Given the description of an element on the screen output the (x, y) to click on. 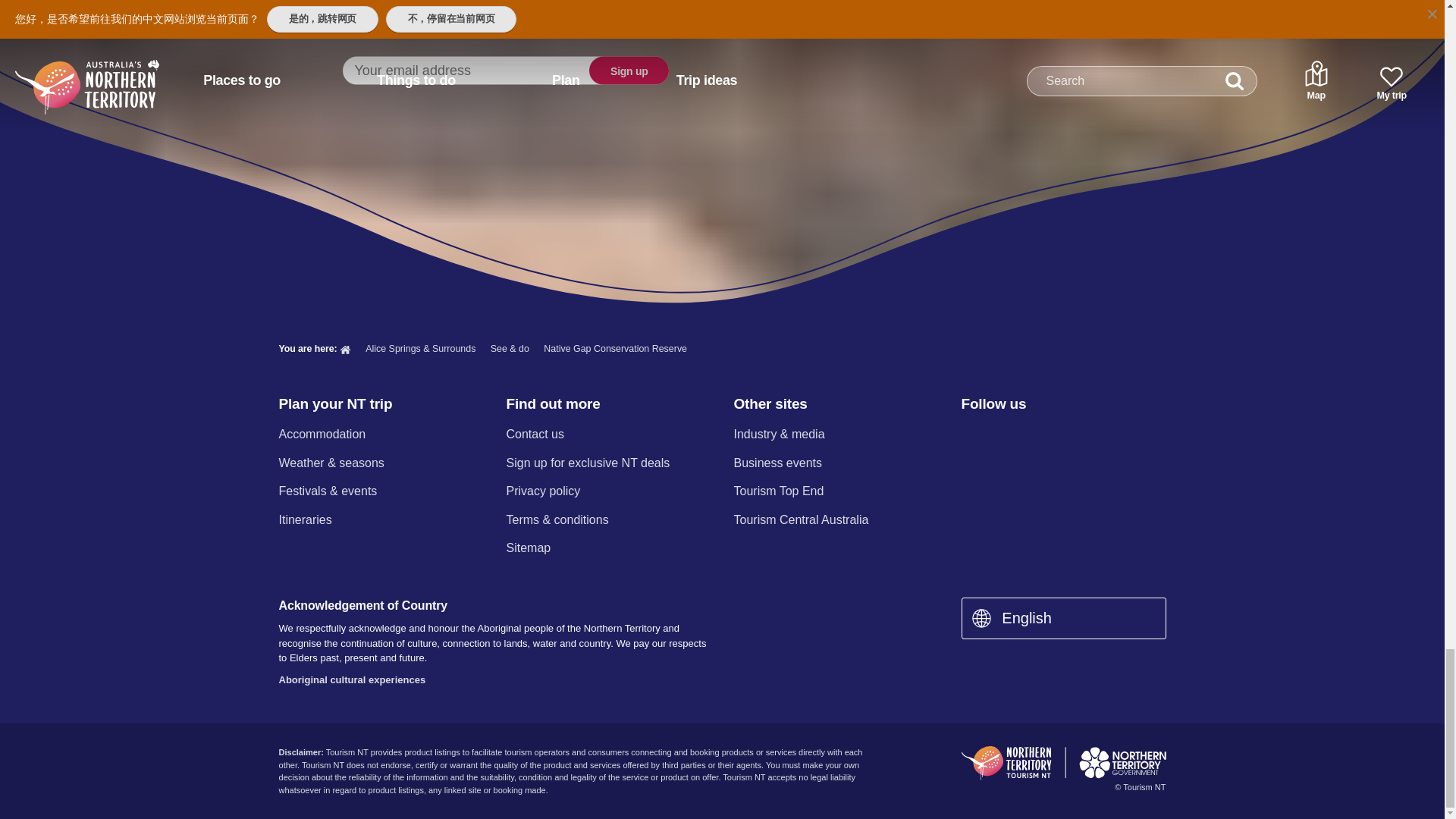
Instagram (1009, 435)
Twitter (1050, 435)
Facebook (970, 435)
